Given the description of an element on the screen output the (x, y) to click on. 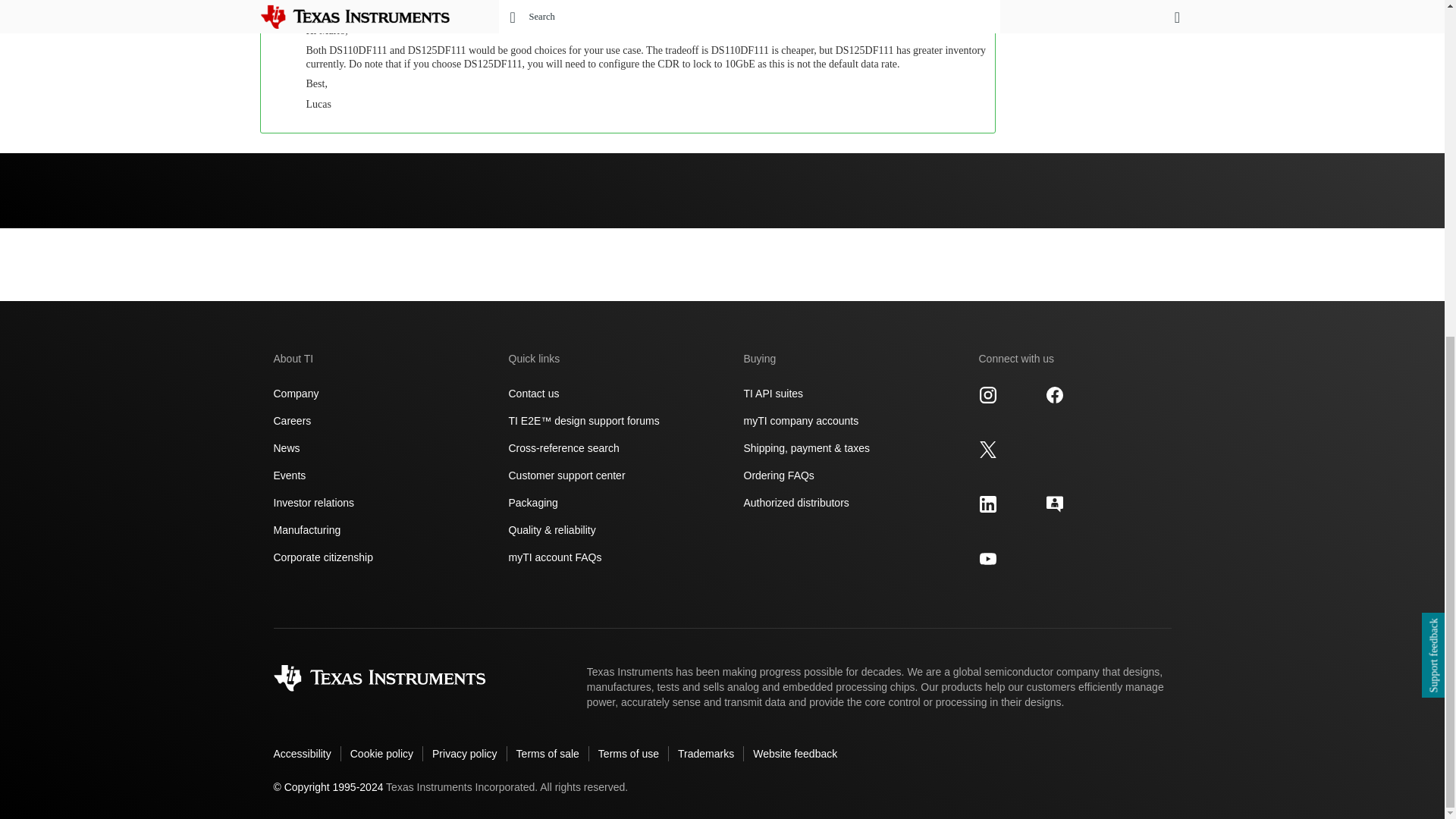
Click here for explanation of levels (881, 1)
e2e (1053, 504)
youtube (986, 558)
instagram (986, 394)
twitter (986, 449)
Texas Instruments (378, 678)
facebook (1053, 394)
linkedin (986, 504)
